Given the description of an element on the screen output the (x, y) to click on. 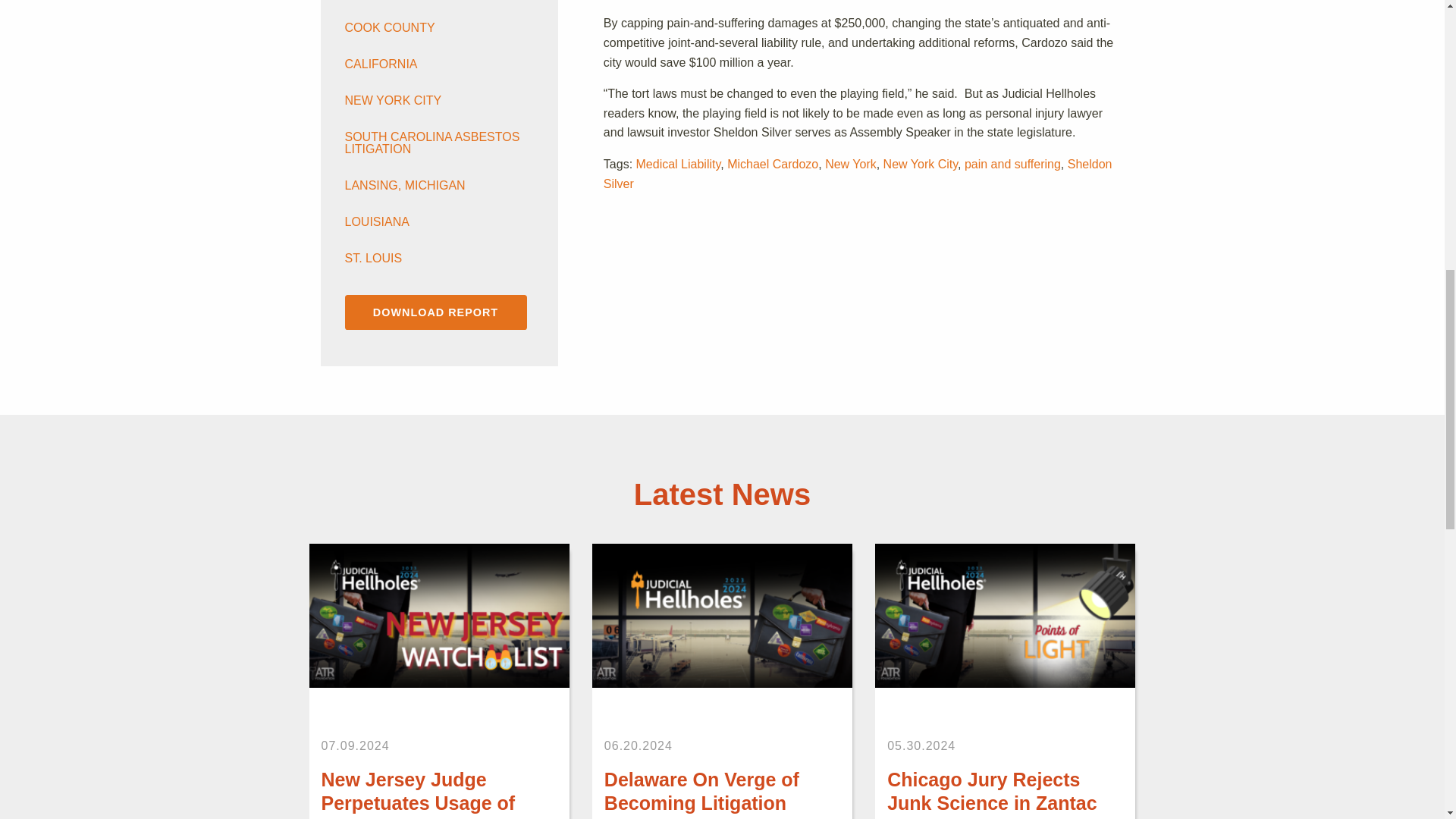
LANSING, MICHIGAN (432, 185)
COOK COUNTY (432, 28)
SOUTH CAROLINA ASBESTOS LITIGATION (432, 143)
Chicago Jury Rejects Junk Science in Zantac Trial (1005, 614)
NEW YORK CITY (432, 101)
Chicago Jury Rejects Junk Science in Zantac Trial (991, 794)
CALIFORNIA (432, 64)
LOUISIANA (432, 222)
